Given the description of an element on the screen output the (x, y) to click on. 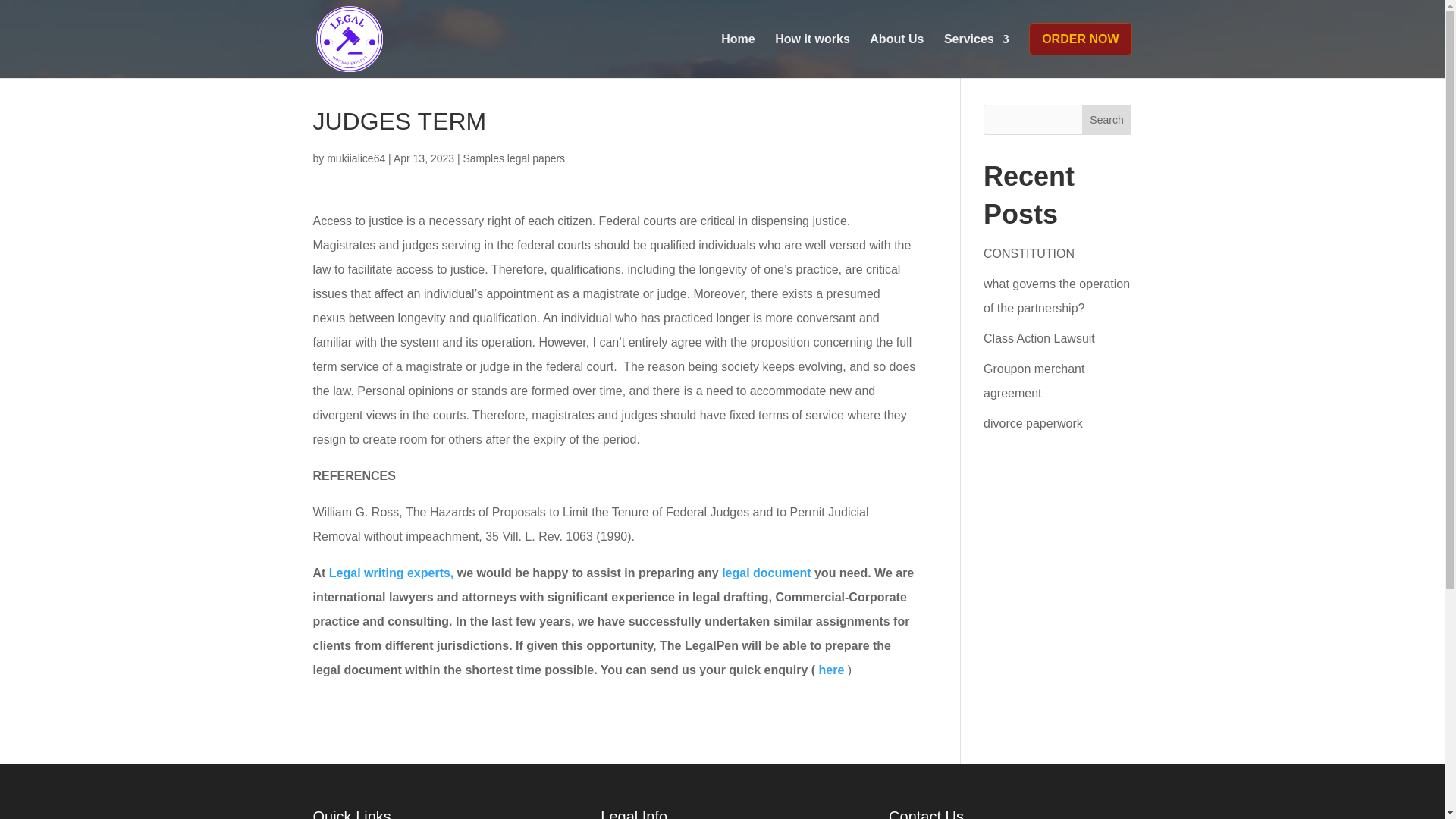
Home (737, 50)
mukiialice64 (355, 158)
Samples legal papers (513, 158)
Legal writing experts, (390, 572)
Services (976, 50)
About Us (896, 50)
Search (1106, 119)
Groupon merchant agreement (1034, 380)
what governs the operation of the partnership? (1056, 295)
legal document (766, 572)
